Given the description of an element on the screen output the (x, y) to click on. 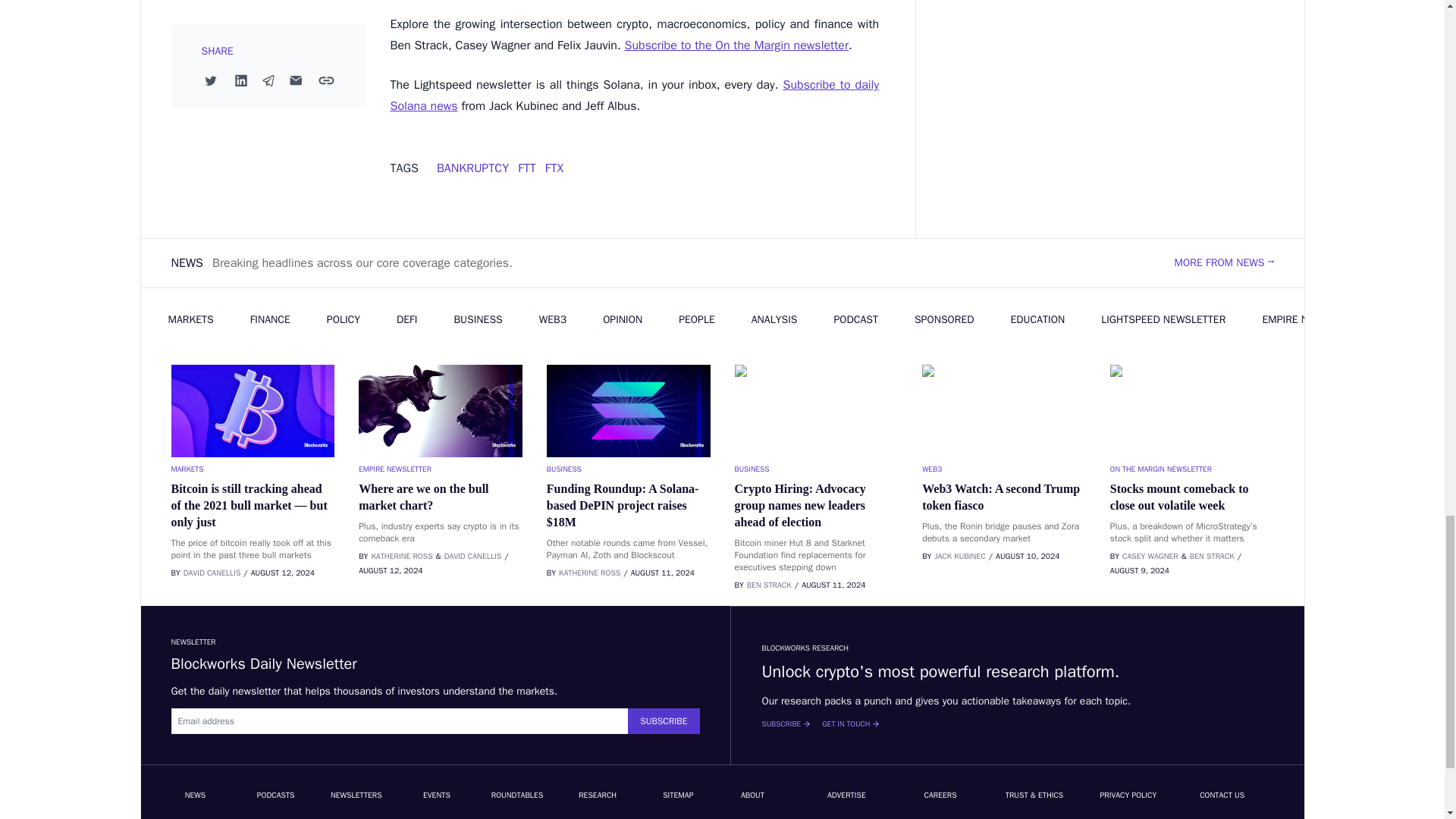
BUSINESS (628, 469)
BUSINESS (815, 469)
EMPIRE NEWSLETTER (440, 469)
WEB3 (1003, 469)
MARKETS (252, 469)
ON THE MARGIN NEWSLETTER (1191, 469)
